Given the description of an element on the screen output the (x, y) to click on. 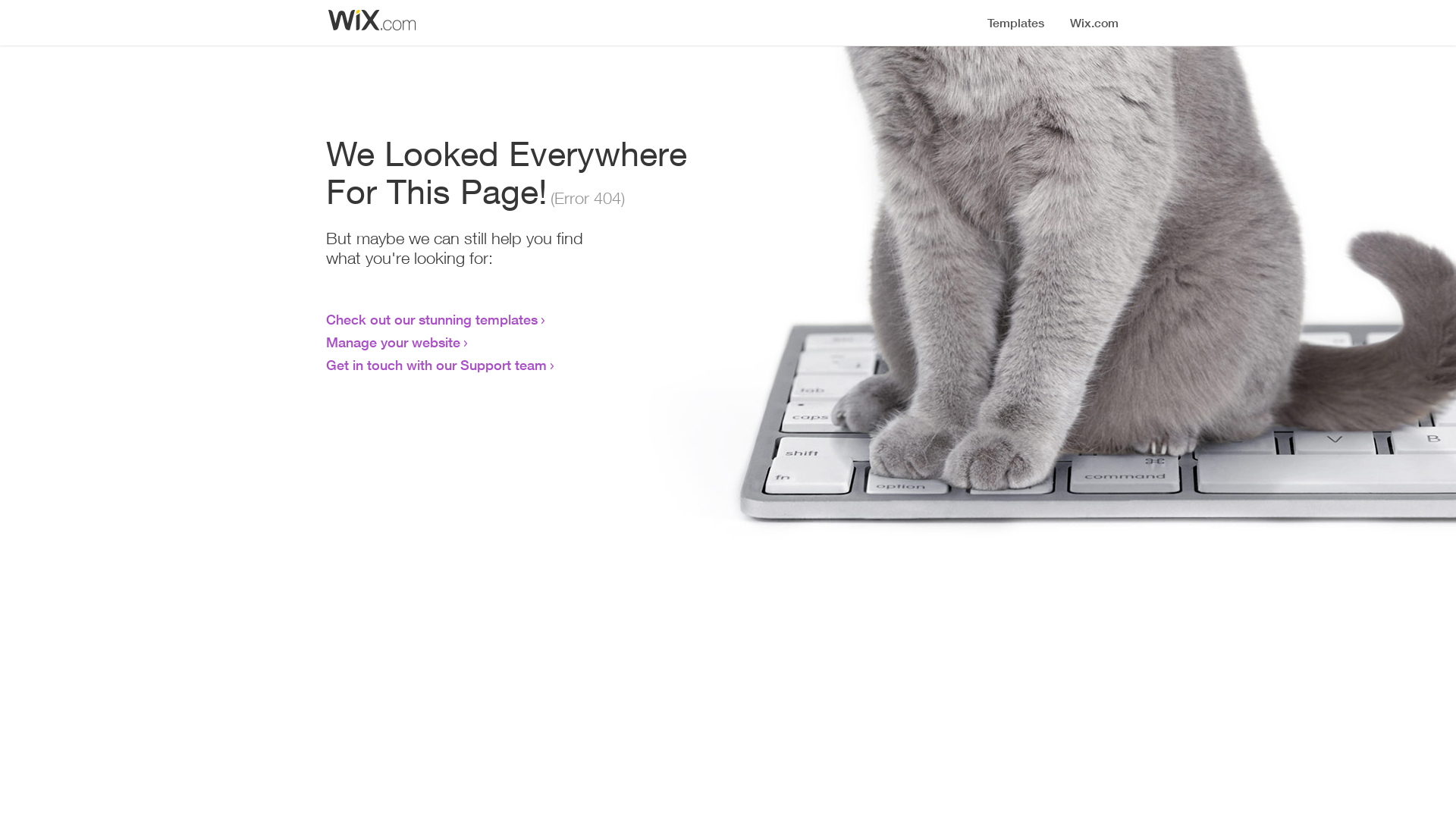
Check out our stunning templates Element type: text (431, 318)
Manage your website Element type: text (393, 341)
Get in touch with our Support team Element type: text (436, 364)
